Given the description of an element on the screen output the (x, y) to click on. 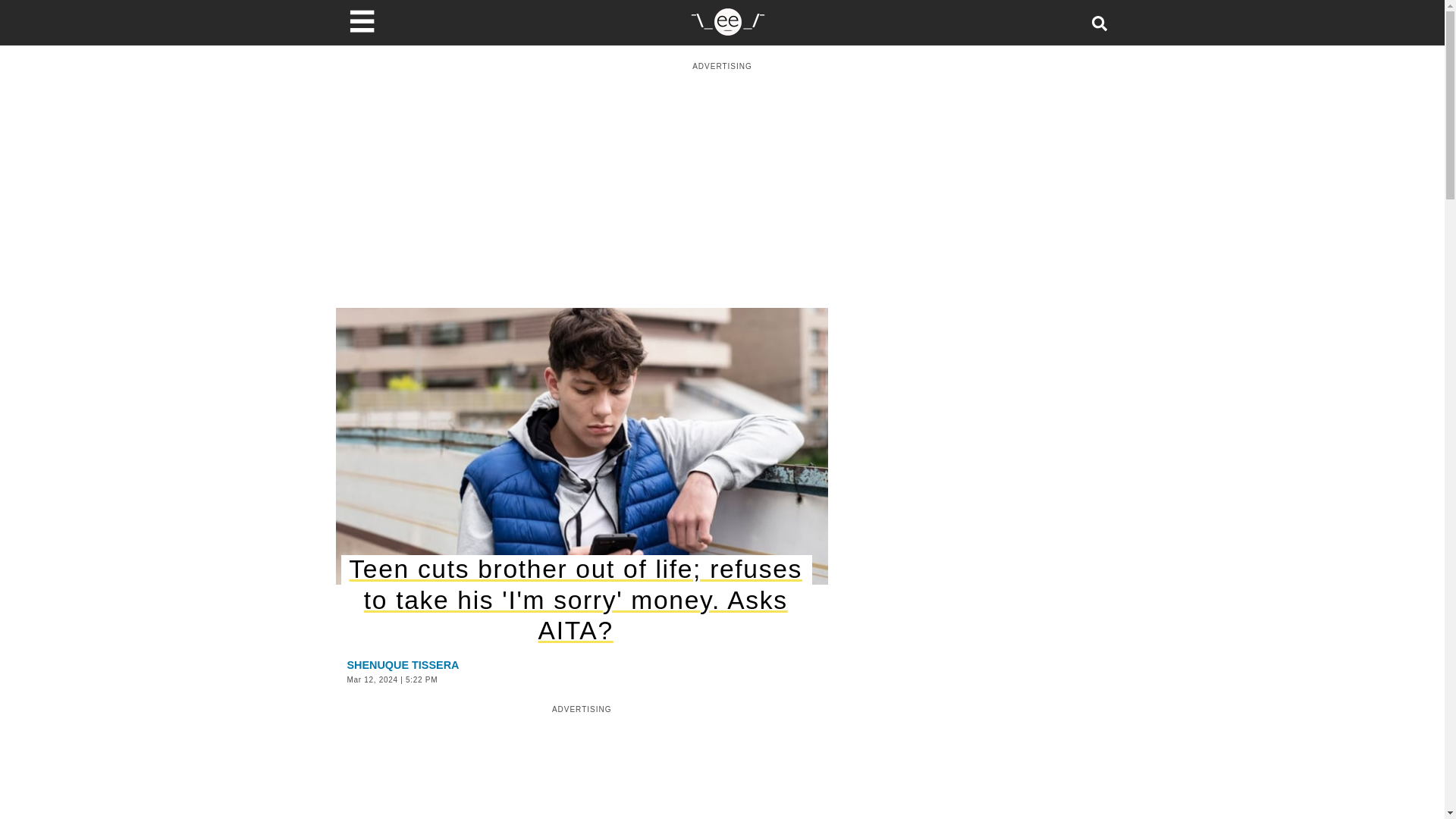
SHENUQUE TISSERA (403, 664)
